Given the description of an element on the screen output the (x, y) to click on. 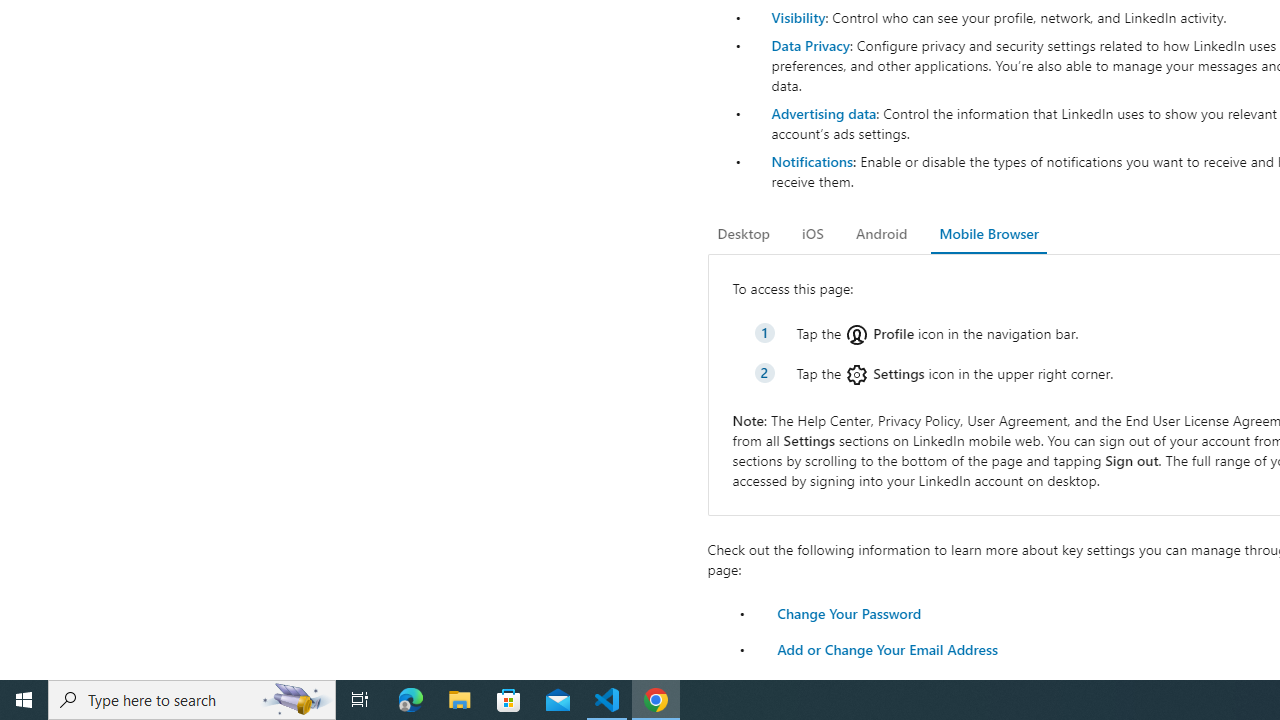
Advertising data (823, 112)
Add and Remove Mobile Phone Numbers (908, 684)
Mobile Browser (988, 234)
iOS (812, 234)
Change Your Password (848, 612)
Notifications (811, 161)
Visibility (797, 17)
Add or Change Your Email Address (887, 648)
Data Privacy (809, 44)
Desktop (744, 234)
Android (881, 234)
